Given the description of an element on the screen output the (x, y) to click on. 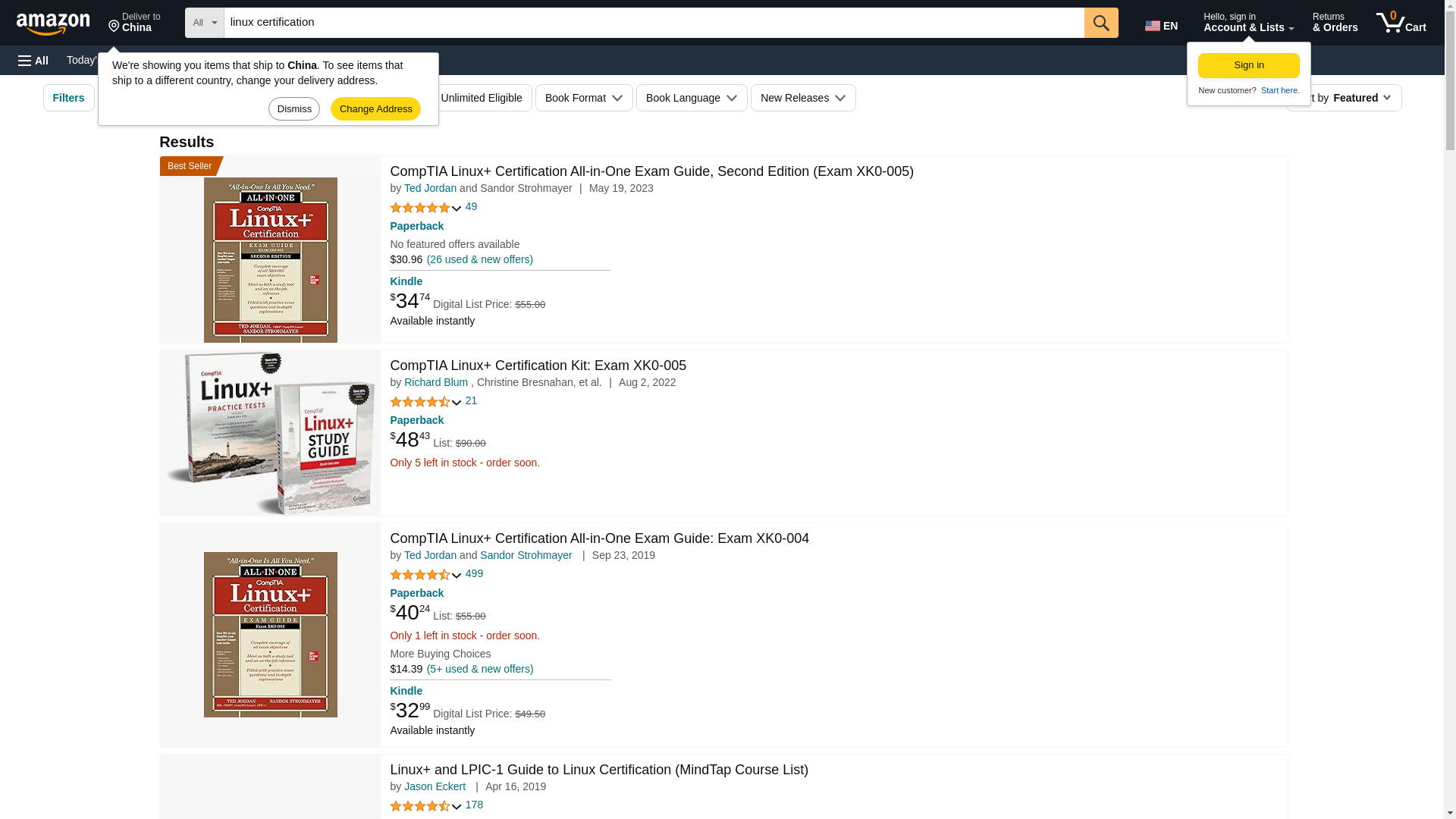
Gift Cards (333, 59)
All (33, 60)
Sign in (1249, 65)
Go (1101, 22)
Registry (272, 59)
All Discounts (270, 97)
Start here. (1279, 90)
Today's Deals (99, 59)
EN (1163, 22)
Skip to main content (60, 21)
